Given the description of an element on the screen output the (x, y) to click on. 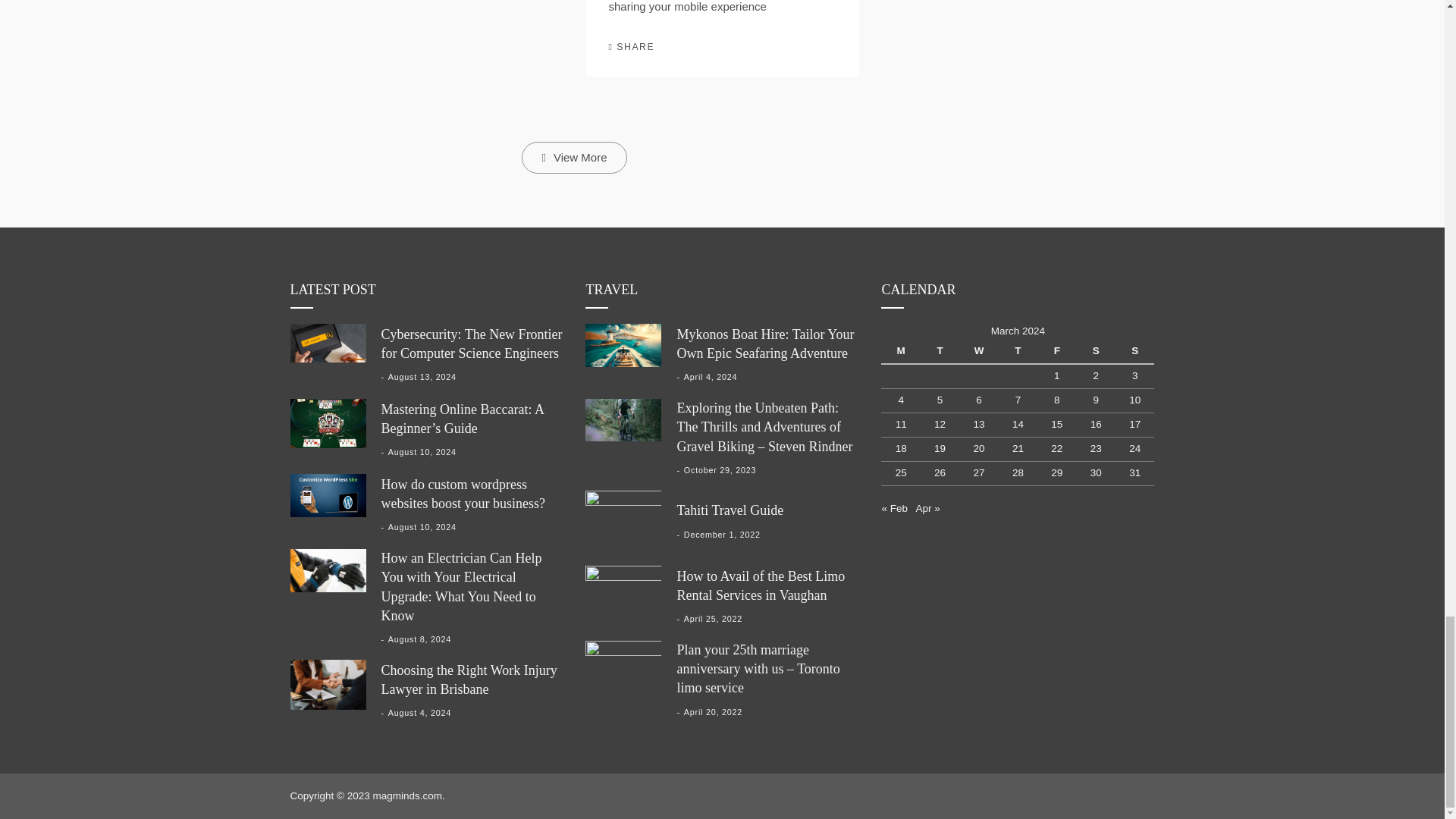
Monday (900, 351)
Tuesday (939, 351)
Saturday (1096, 351)
Sunday (1134, 351)
Friday (1055, 351)
Thursday (1017, 351)
Wednesday (978, 351)
